Given the description of an element on the screen output the (x, y) to click on. 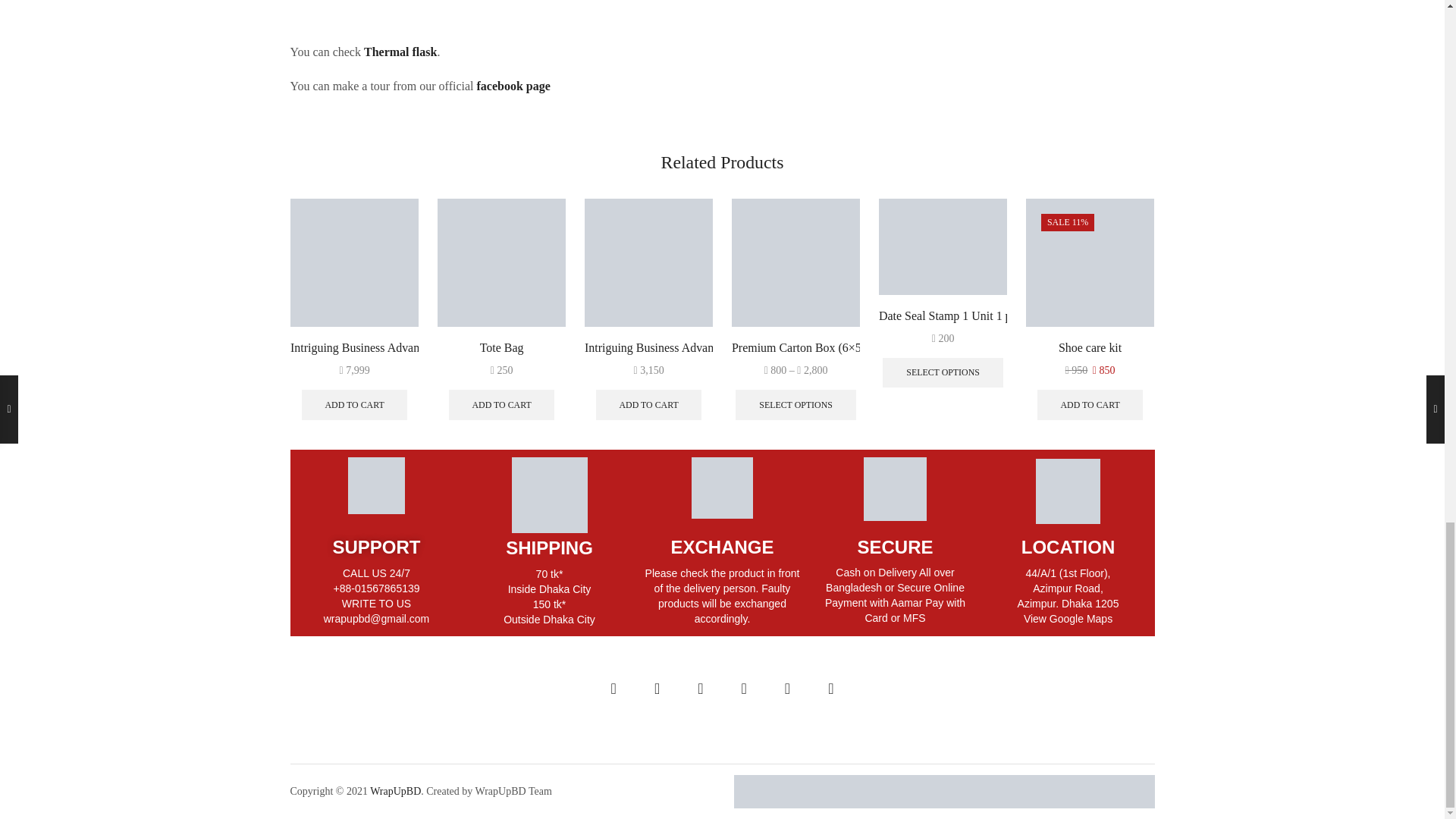
support-01 (375, 485)
